Given the description of an element on the screen output the (x, y) to click on. 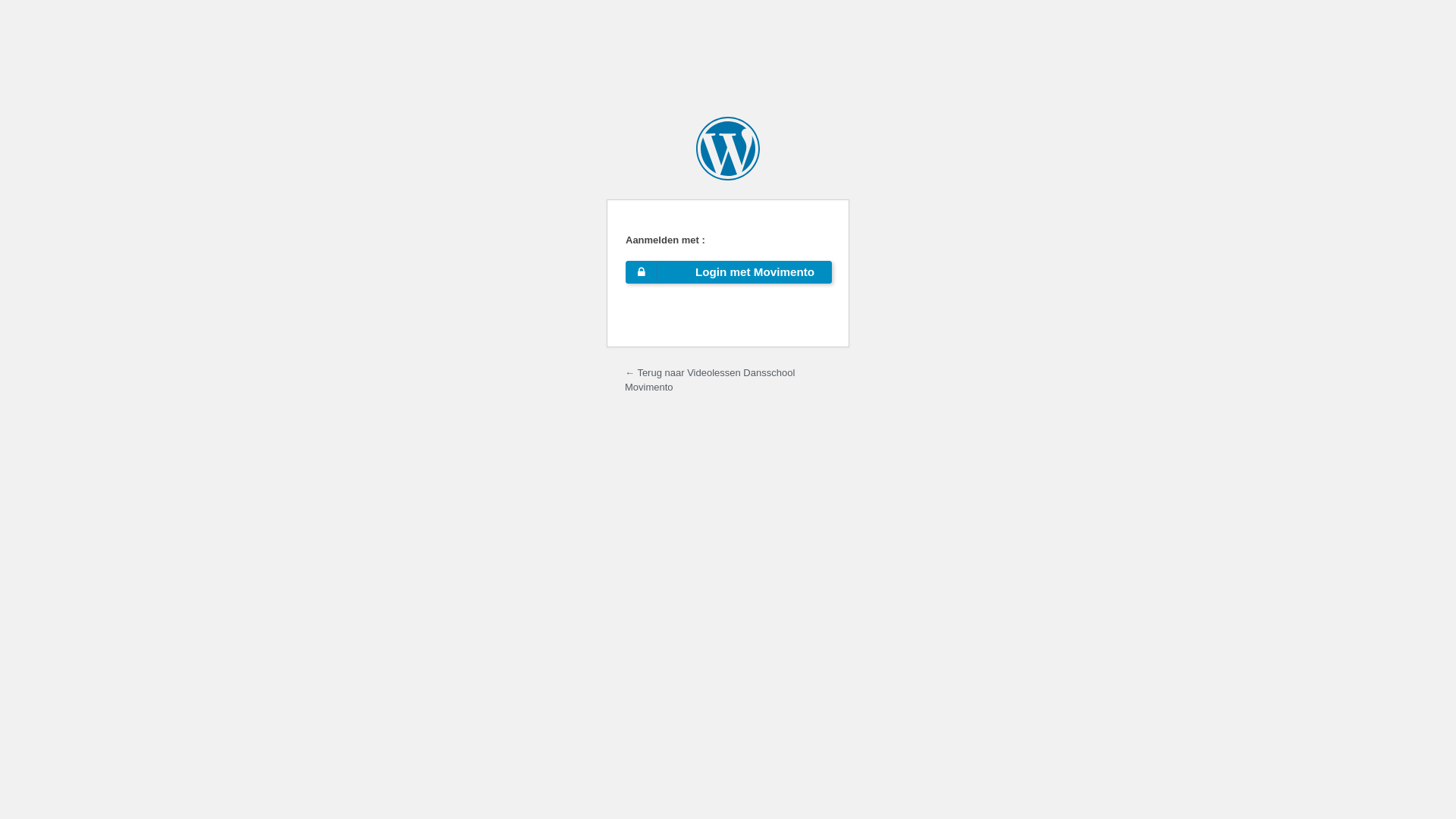
Mogelijk gemaakt door WordPress Element type: text (727, 148)
Login met Movimento Element type: text (727, 271)
